Given the description of an element on the screen output the (x, y) to click on. 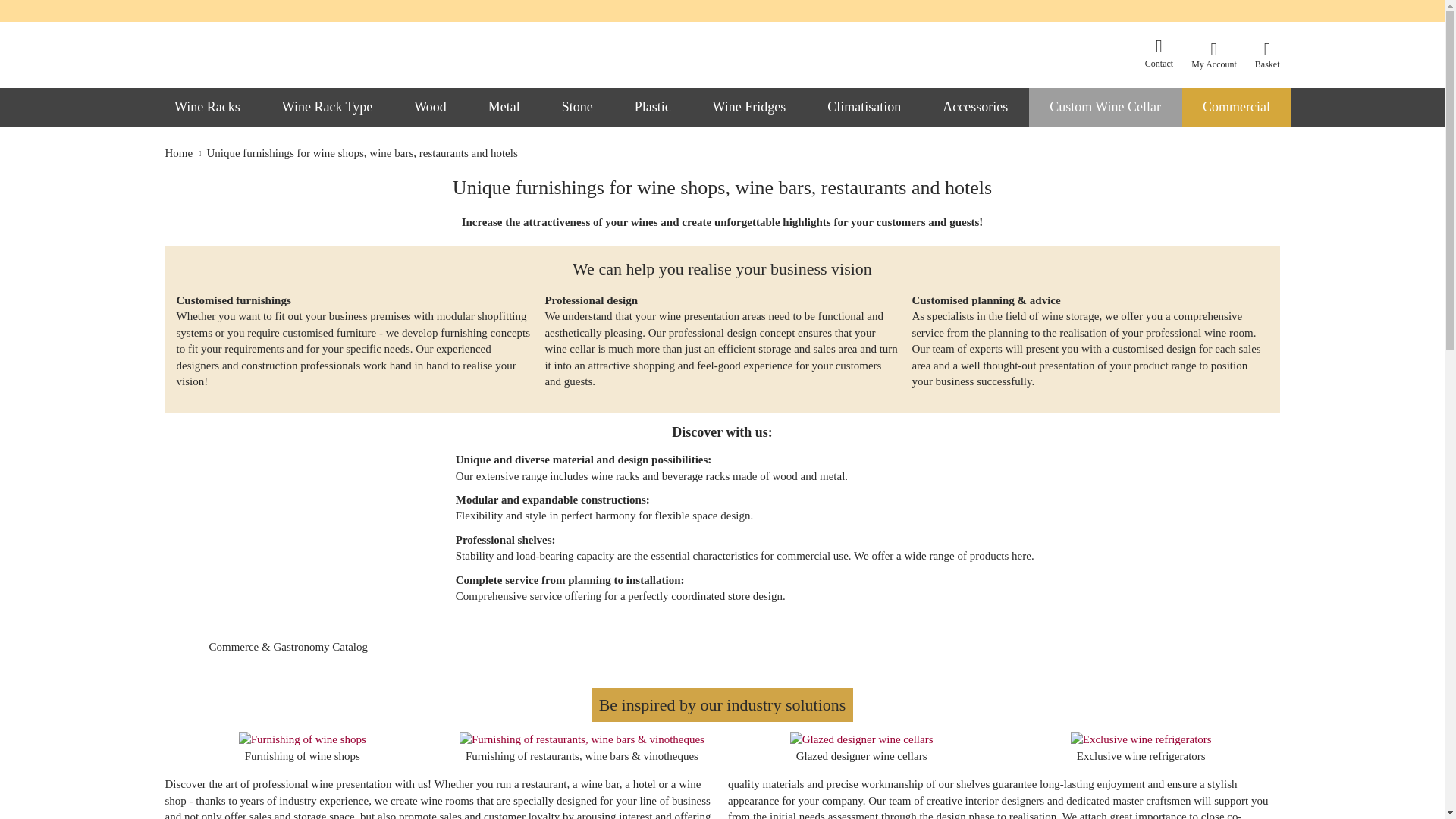
Wine Rack Type (327, 106)
Winerack-plus.com (298, 57)
Wine Racks (207, 106)
My Account (1213, 55)
